Given the description of an element on the screen output the (x, y) to click on. 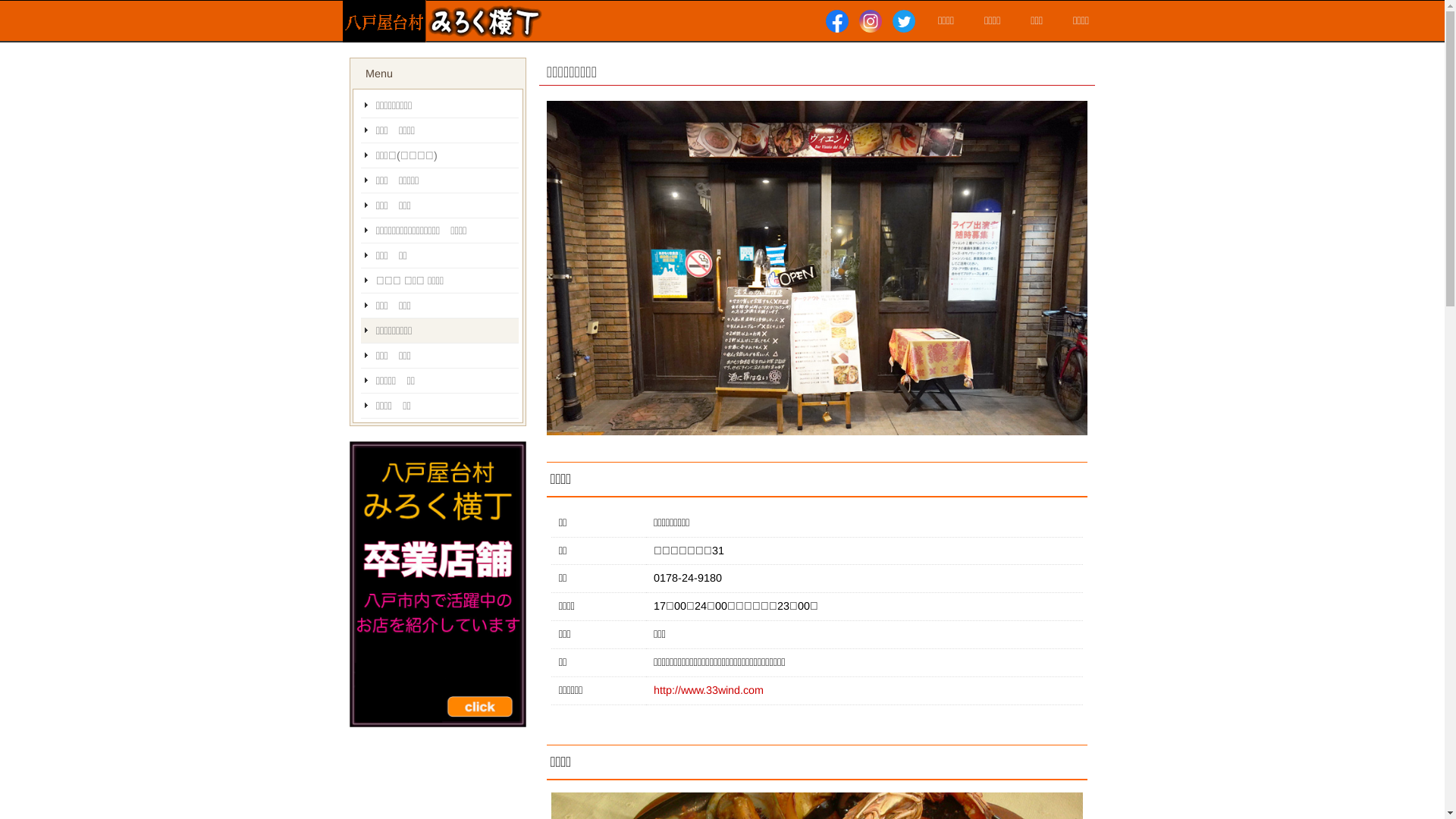
http://www.33wind.com Element type: text (708, 690)
